Given the description of an element on the screen output the (x, y) to click on. 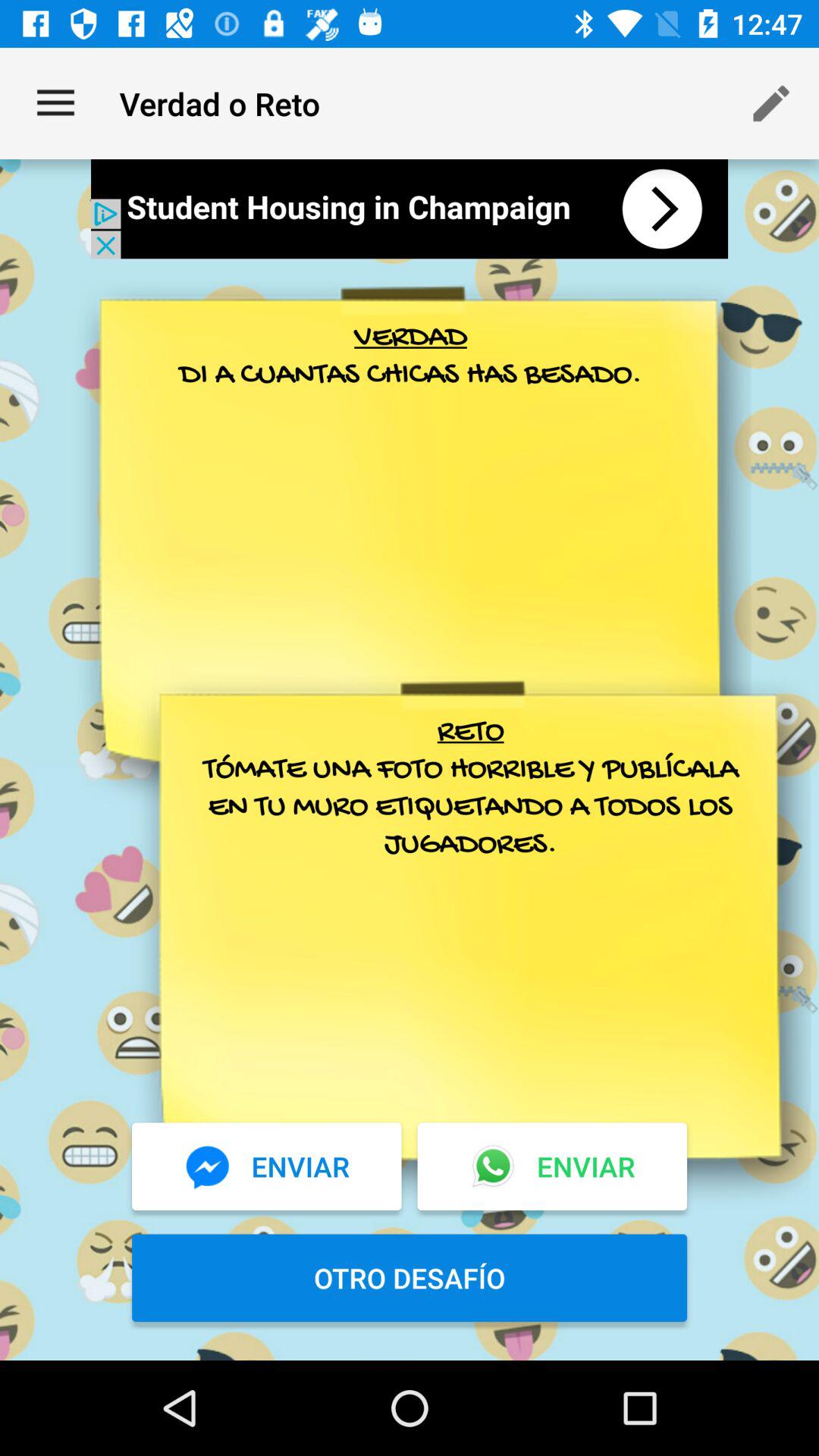
interact with advertisement (409, 208)
